Given the description of an element on the screen output the (x, y) to click on. 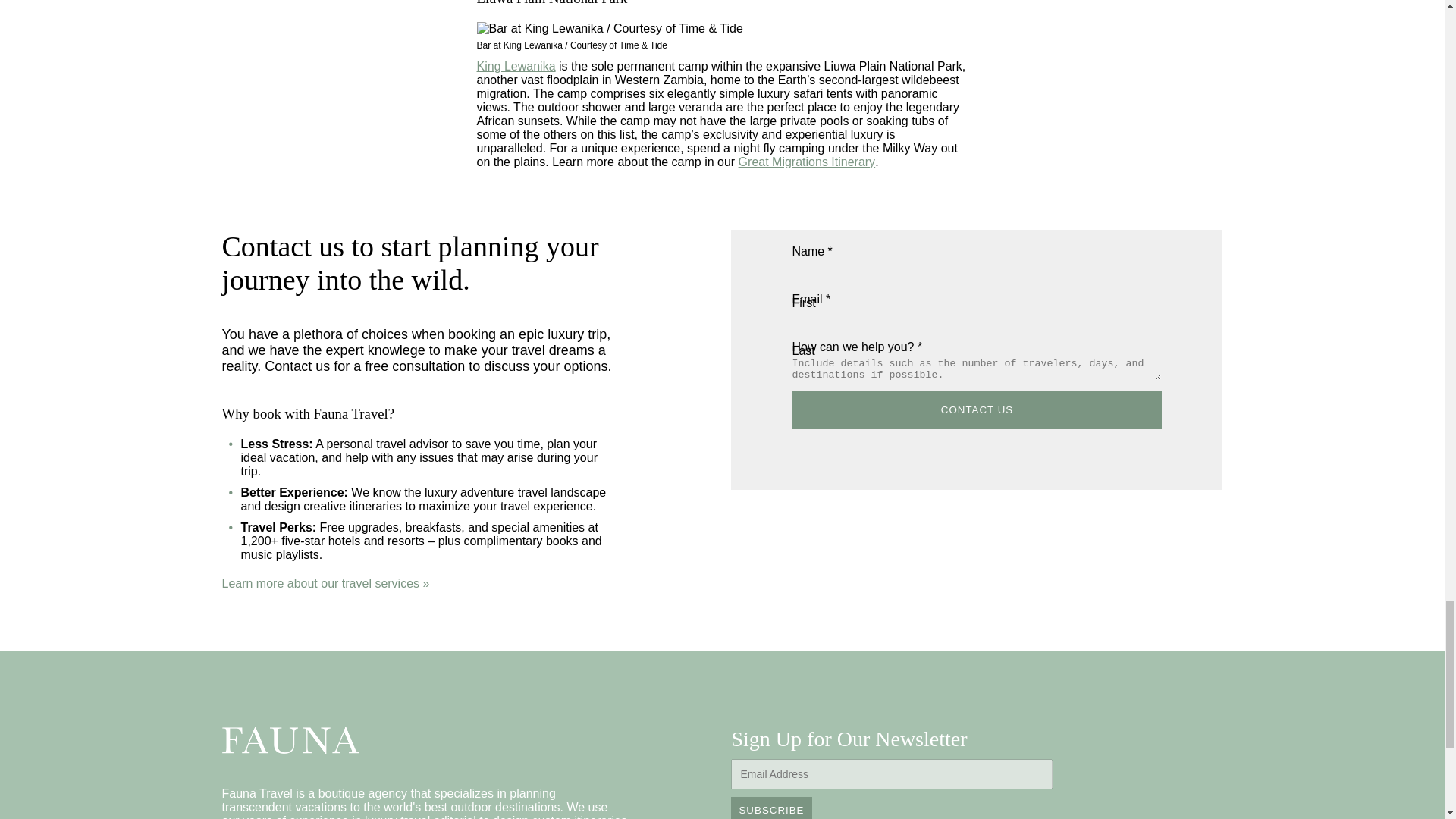
CONTACT US (976, 410)
Subscribe (770, 807)
King Lewanika (515, 65)
Fauna Travel (289, 740)
Great Migrations Itinerary (807, 161)
Subscribe (770, 807)
